Given the description of an element on the screen output the (x, y) to click on. 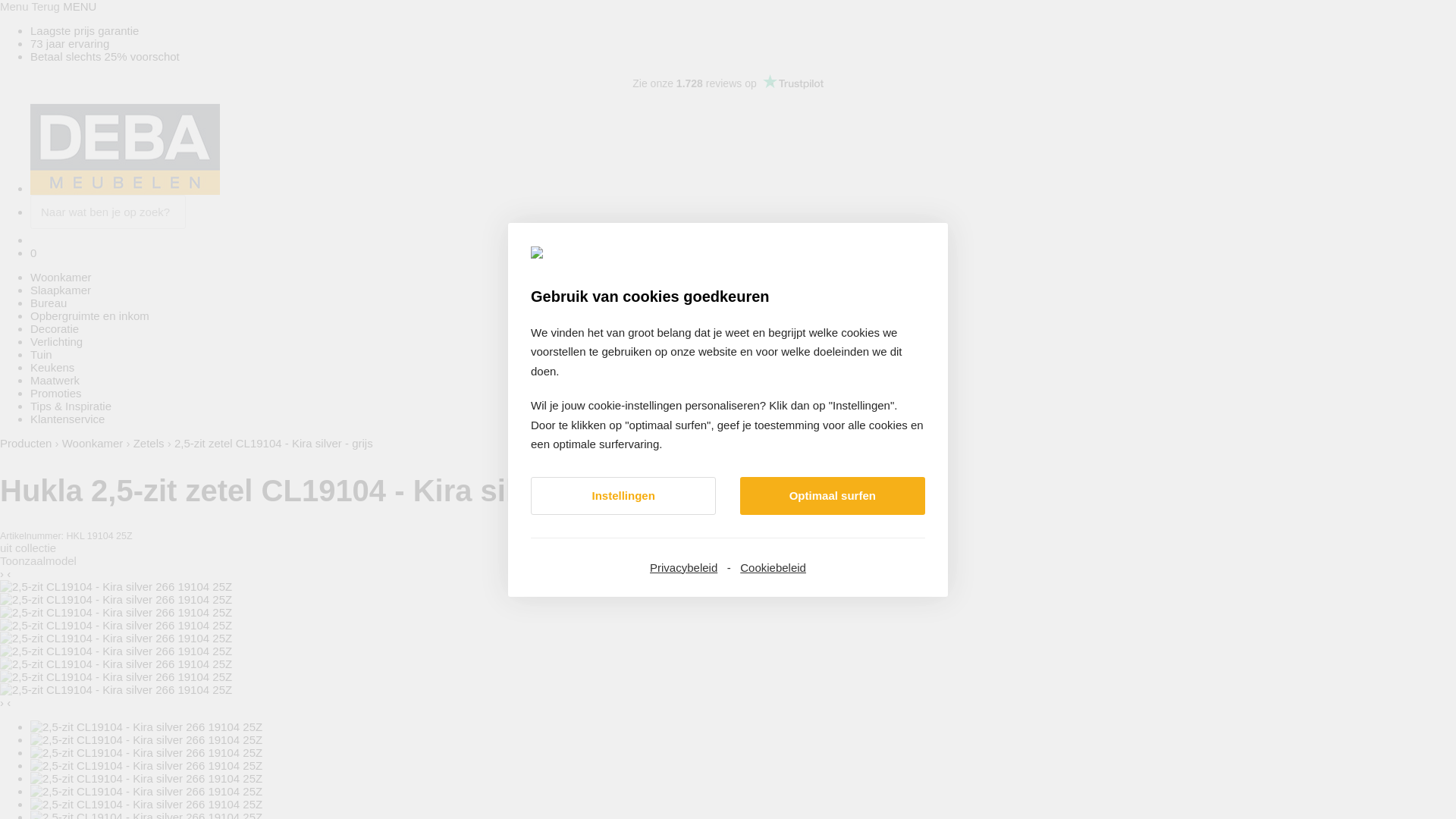
Opbergruimte en inkom Element type: text (89, 315)
73 jaar ervaring Element type: text (69, 43)
Cookiebeleid Element type: text (773, 567)
Bureau Element type: text (48, 302)
Woonkamer Element type: text (92, 442)
MENU Element type: text (79, 6)
Tips & Inspiratie Element type: text (70, 405)
Slaapkamer Element type: text (60, 289)
Klantenservice Element type: text (67, 418)
Privacybeleid Element type: text (683, 567)
Laagste prijs garantie Element type: text (84, 30)
Keukens Element type: text (52, 366)
Producten Element type: text (25, 442)
Decoratie Element type: text (54, 328)
Tuin Element type: text (41, 354)
Maatwerk Element type: text (54, 379)
Hukla Element type: text (41, 490)
0 Element type: text (33, 252)
Promoties Element type: text (55, 392)
Verlichting Element type: text (56, 341)
Optimaal surfen Element type: text (832, 495)
Woonkamer Element type: text (60, 276)
Zetels Element type: text (148, 442)
2,5-zit zetel CL19104 - Kira silver - grijs Element type: text (273, 442)
Instellingen Element type: text (622, 495)
Betaal slechts 25% voorschot Element type: text (104, 56)
